Given the description of an element on the screen output the (x, y) to click on. 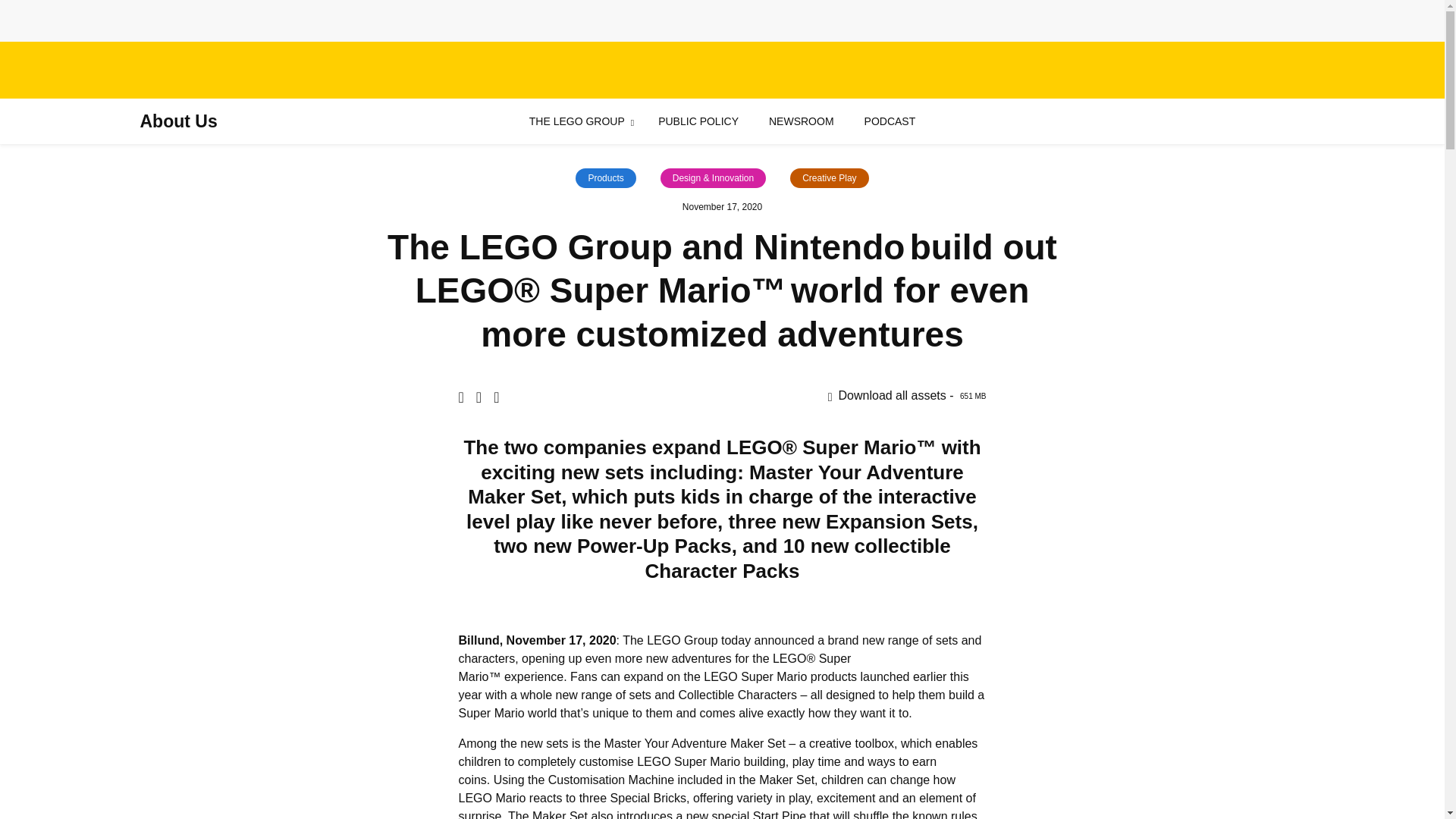
NEWSROOM (801, 121)
About Us (177, 120)
Download all assets (907, 395)
Creative Play (828, 178)
THE LEGO GROUP (576, 121)
Products (907, 395)
PODCAST (604, 178)
PUBLIC POLICY (889, 121)
